Given the description of an element on the screen output the (x, y) to click on. 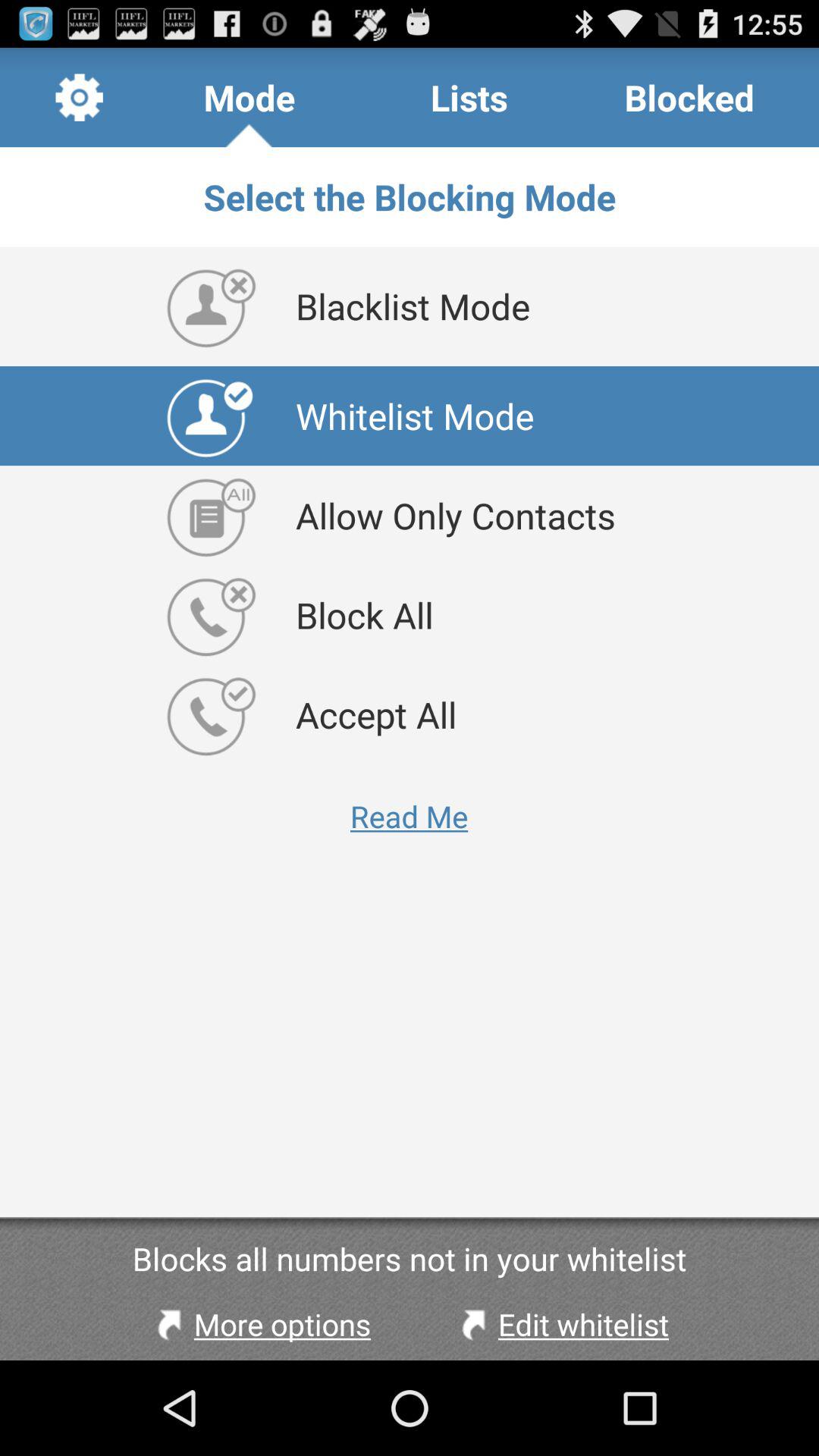
launch the more options at the bottom left corner (260, 1324)
